Given the description of an element on the screen output the (x, y) to click on. 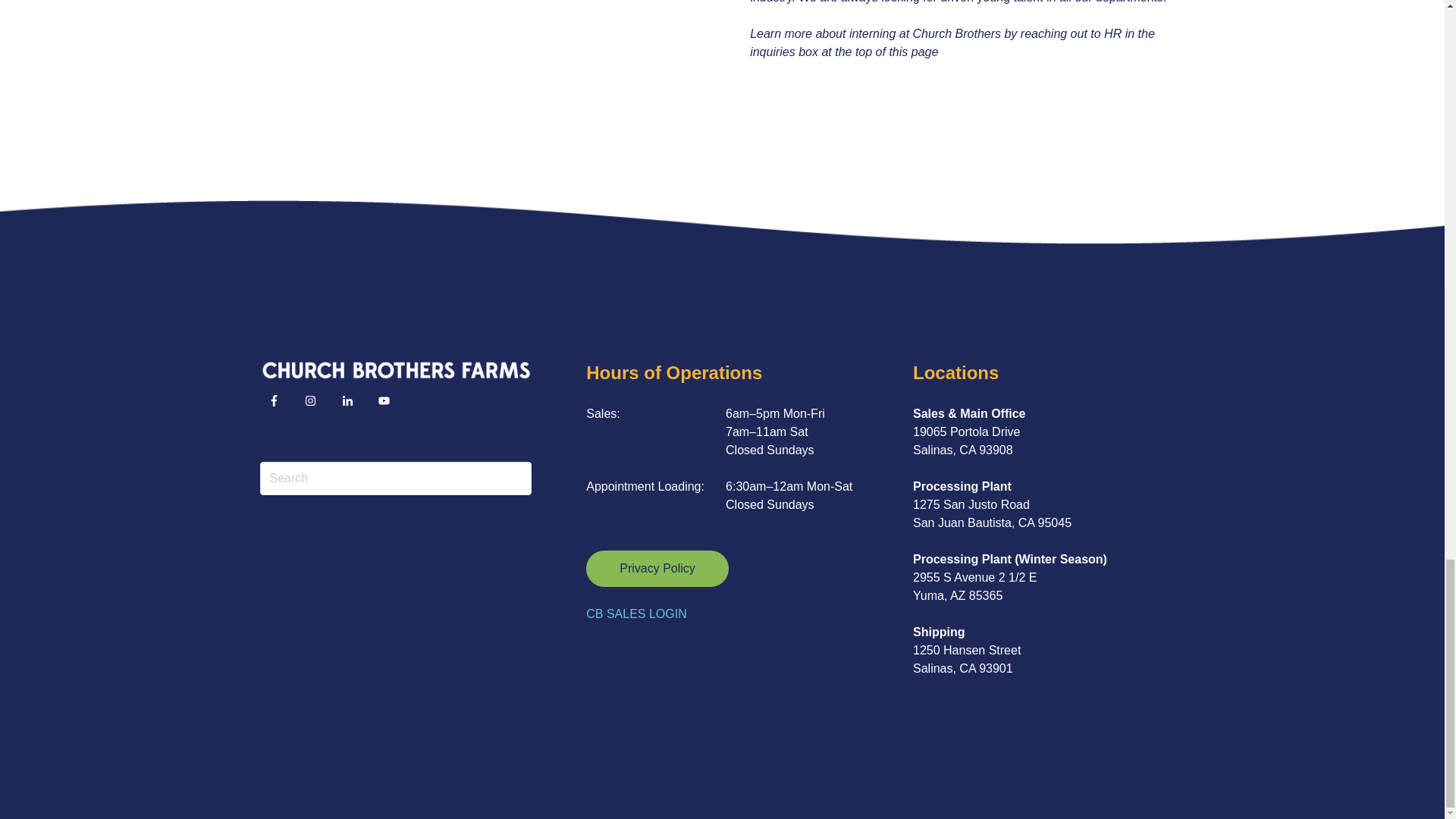
Follow us on LinkedIn (352, 404)
Follow us on Instagram (315, 404)
Follow us on Facebook (384, 400)
undefined (469, 64)
Follow us on Facebook (388, 404)
Privacy Policy (657, 568)
Follow us on Facebook (278, 404)
Church-Brothers-Farms-One-line-Logo-white (395, 369)
Follow us on Facebook (273, 400)
Follow us on LinkedIn (347, 400)
CB SALES LOGIN (636, 614)
Follow us on Instagram (309, 400)
